Given the description of an element on the screen output the (x, y) to click on. 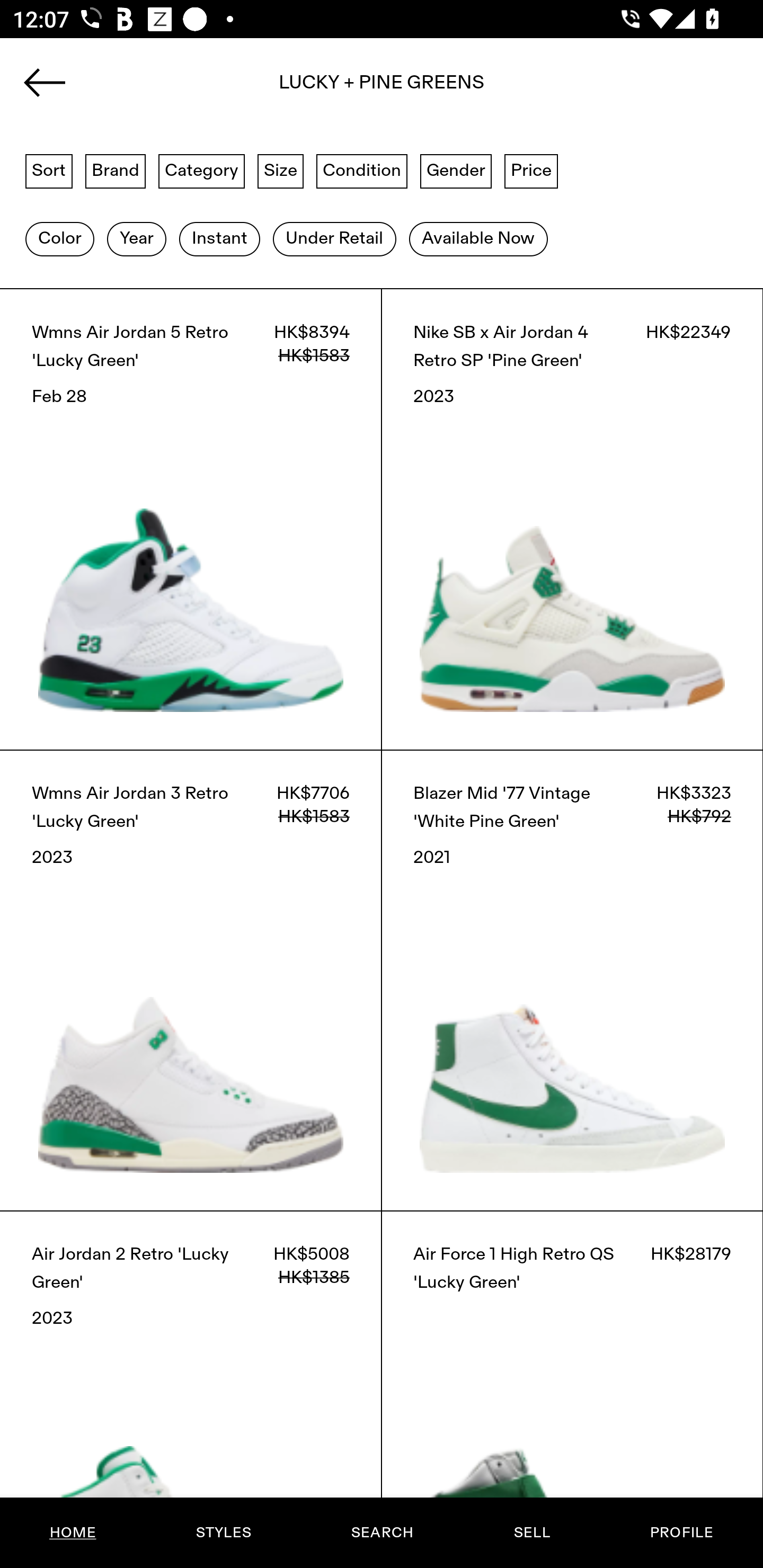
flats (381, 88)
Sort (48, 170)
Brand (115, 170)
Category (201, 170)
Size (280, 170)
Condition (361, 170)
Gender (455, 170)
Price (530, 170)
Color (59, 239)
Year (136, 239)
Instant (219, 239)
Under Retail (334, 239)
Available Now (477, 239)
Air Force 1 High Retro QS 'Lucky Green' HK$28179 (572, 1389)
HOME (72, 1532)
STYLES (222, 1532)
SEARCH (381, 1532)
SELL (531, 1532)
PROFILE (681, 1532)
